Given the description of an element on the screen output the (x, y) to click on. 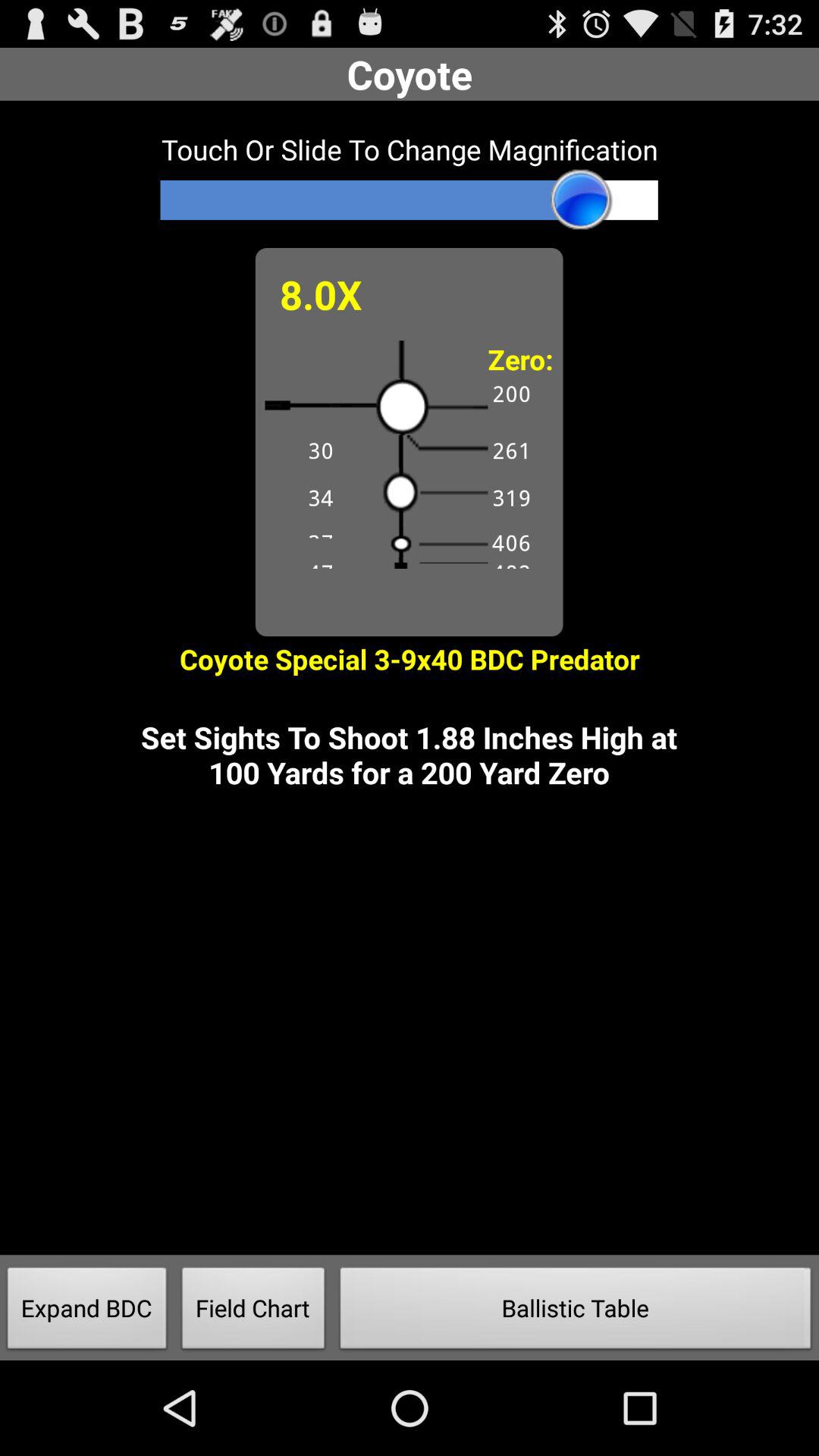
press icon below set sights to icon (87, 1312)
